Given the description of an element on the screen output the (x, y) to click on. 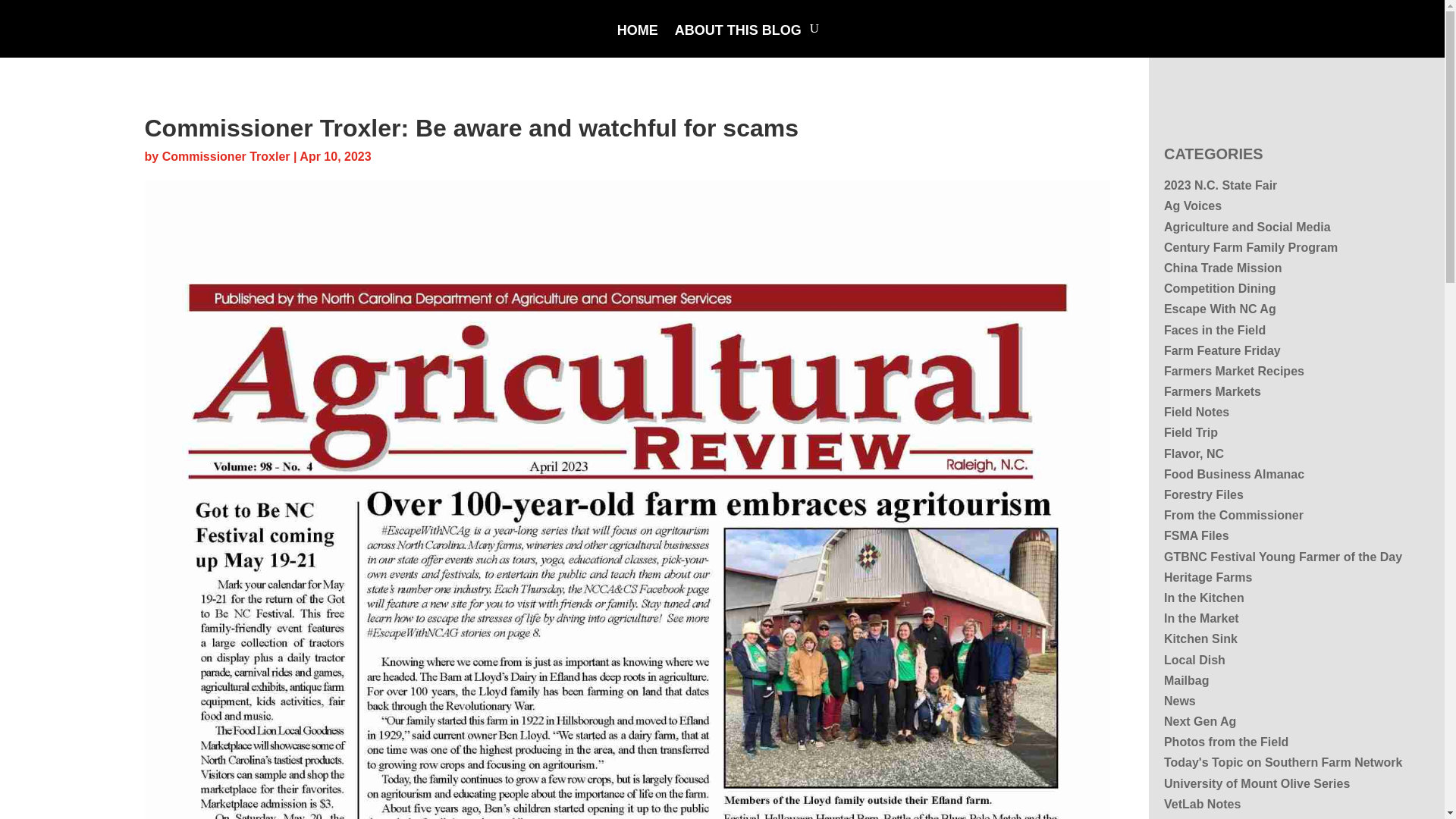
Field Notes (1195, 411)
Field Trip (1190, 431)
News (1179, 700)
Food Business Almanac (1233, 473)
Commissioner Troxler (225, 155)
In the Market (1201, 617)
Farmers Market Recipes (1233, 370)
Local Dish (1194, 659)
Photos from the Field (1225, 741)
2023 N.C. State Fair (1219, 185)
